Given the description of an element on the screen output the (x, y) to click on. 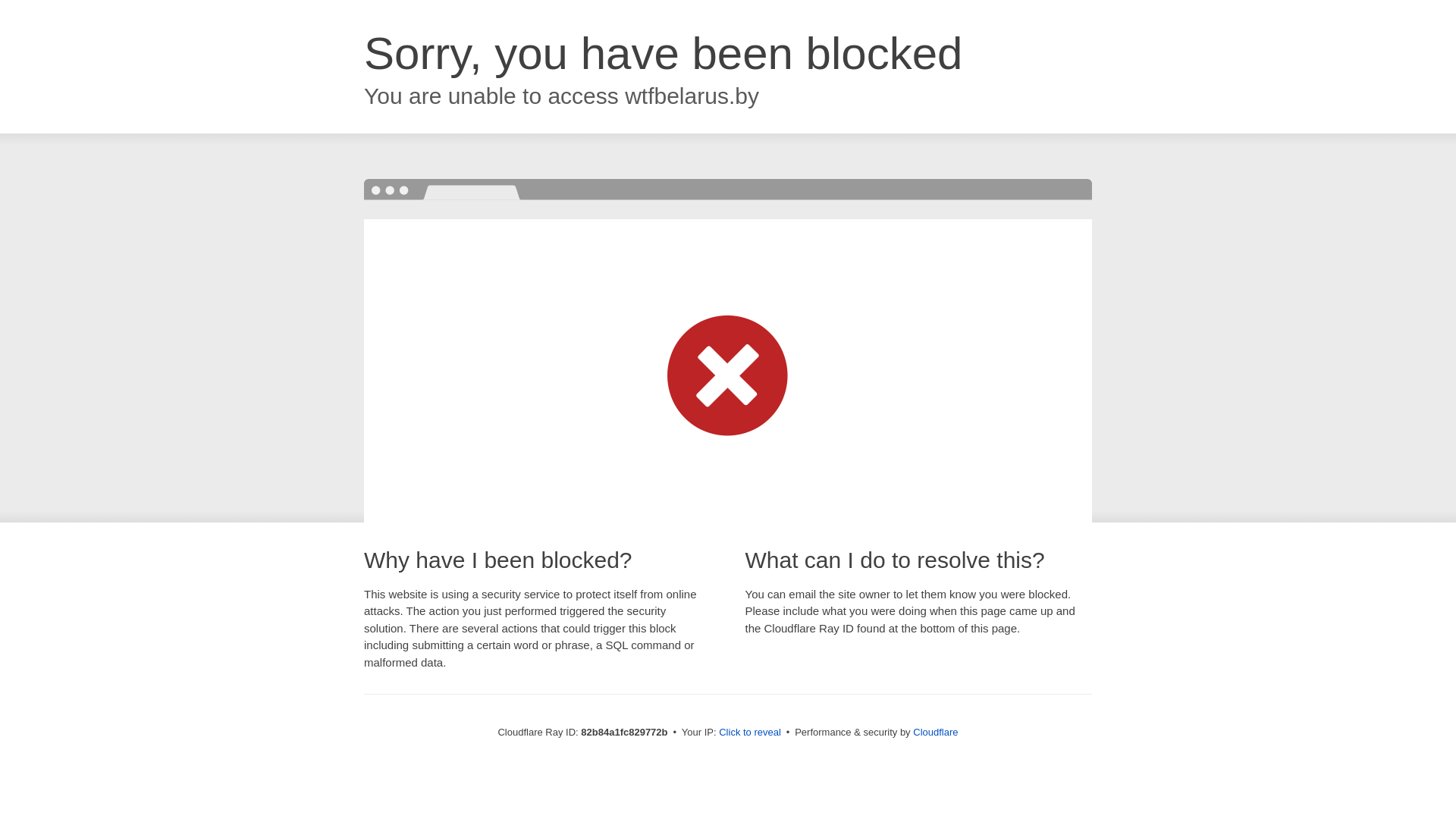
Cloudflare Element type: text (935, 731)
Click to reveal Element type: text (749, 732)
